Given the description of an element on the screen output the (x, y) to click on. 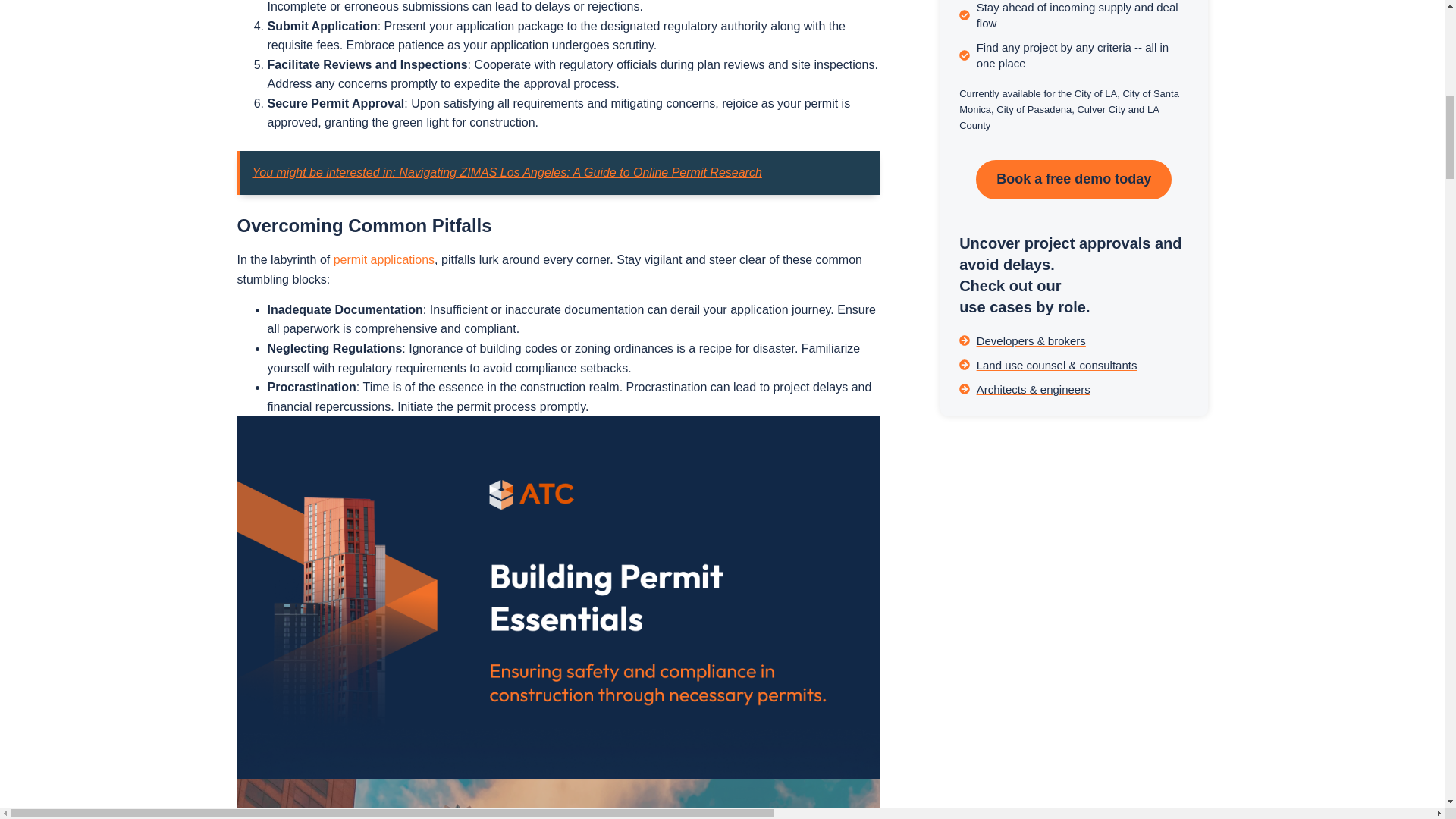
Book a free demo today (1073, 179)
permit applications (383, 259)
